Given the description of an element on the screen output the (x, y) to click on. 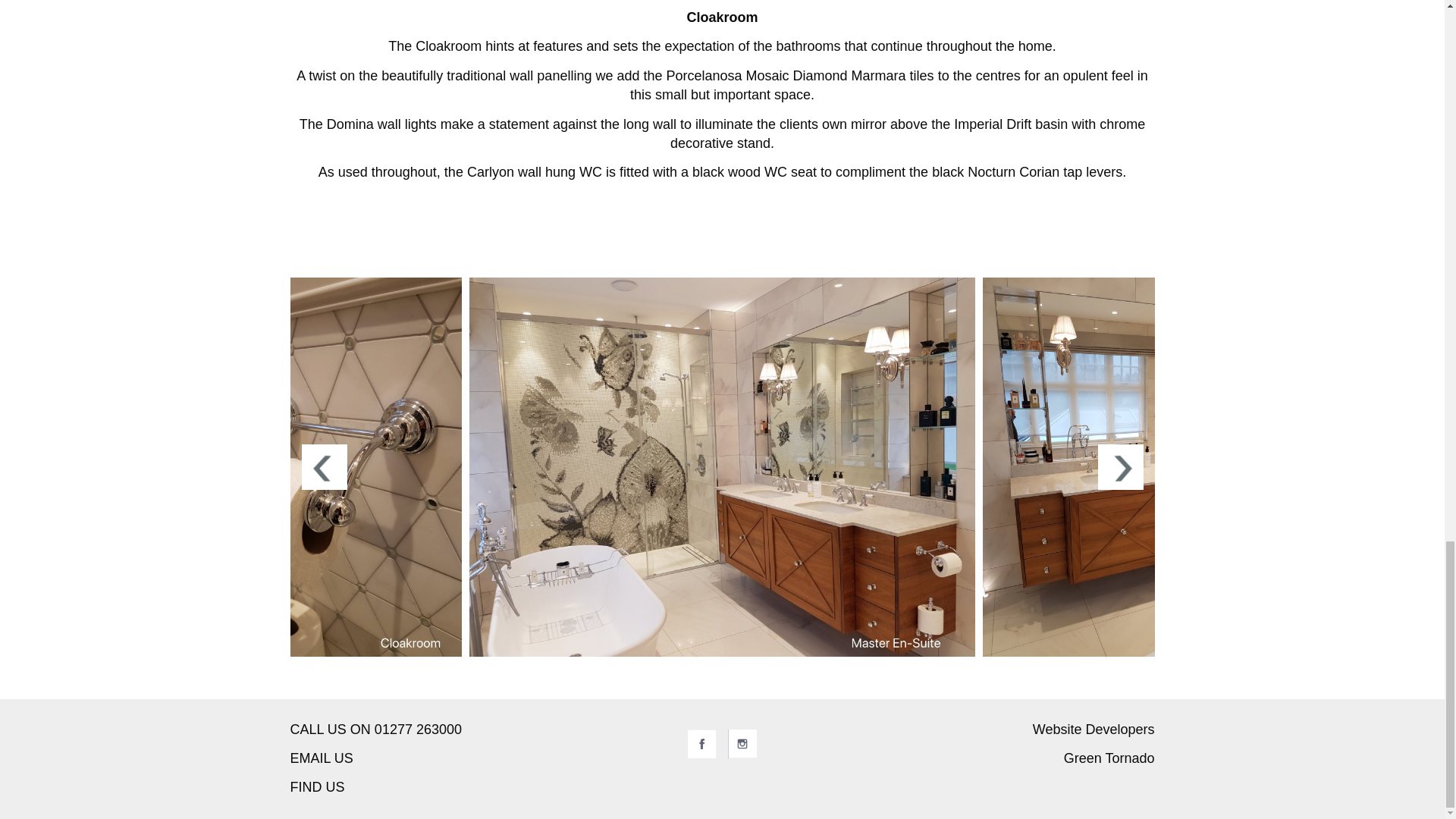
Facebook (701, 743)
Green Tornado (1109, 758)
Instagram (742, 743)
EMAIL US (320, 758)
FIND US (316, 786)
